Given the description of an element on the screen output the (x, y) to click on. 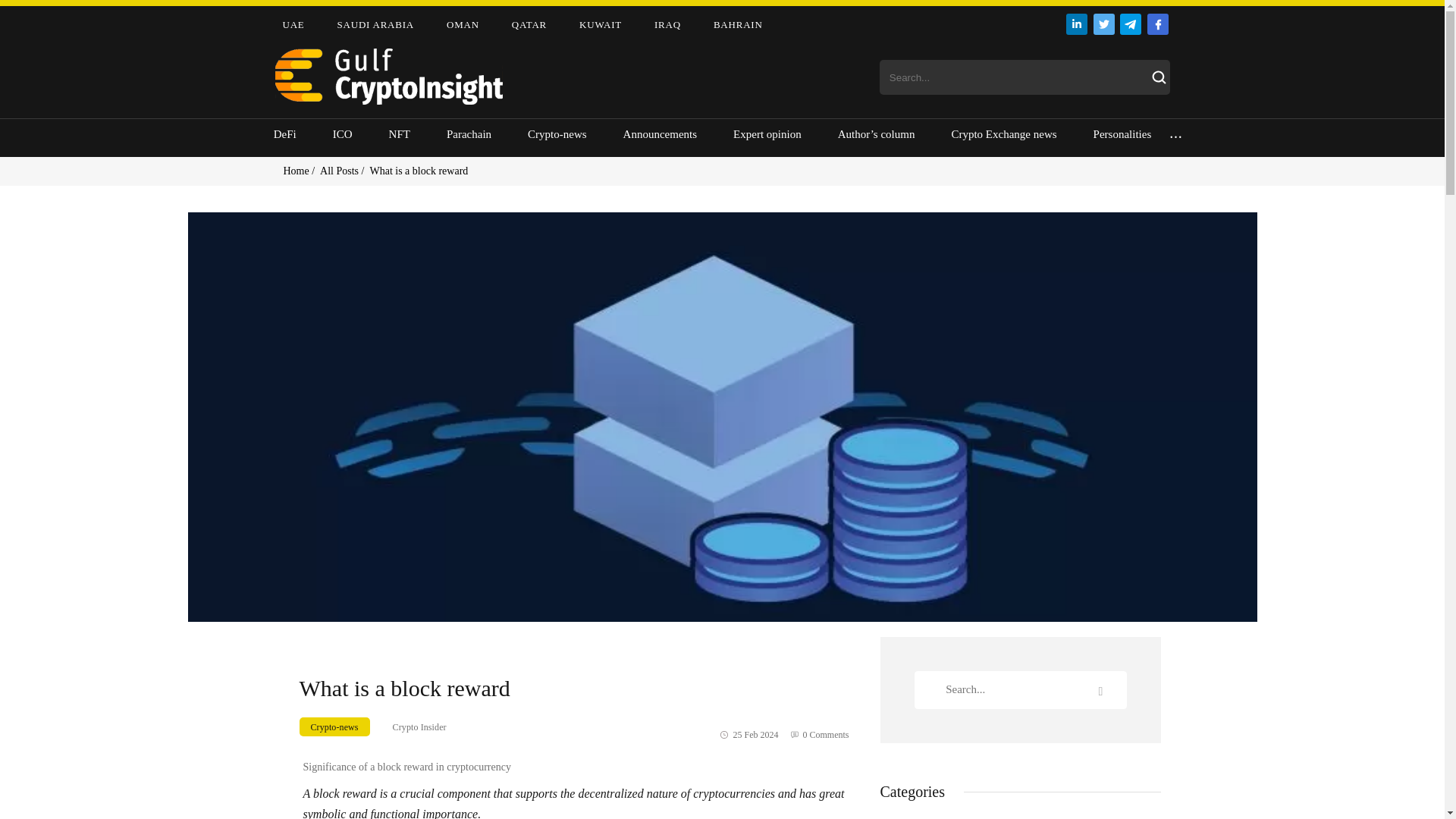
UAE (293, 24)
OMAN (462, 24)
IRAQ (667, 24)
Home (298, 170)
BAHRAIN (738, 24)
QATAR (528, 24)
All Posts (340, 170)
Posts by Crypto Insider (413, 727)
KUWAIT (600, 24)
SAUDI ARABIA (376, 24)
